Given the description of an element on the screen output the (x, y) to click on. 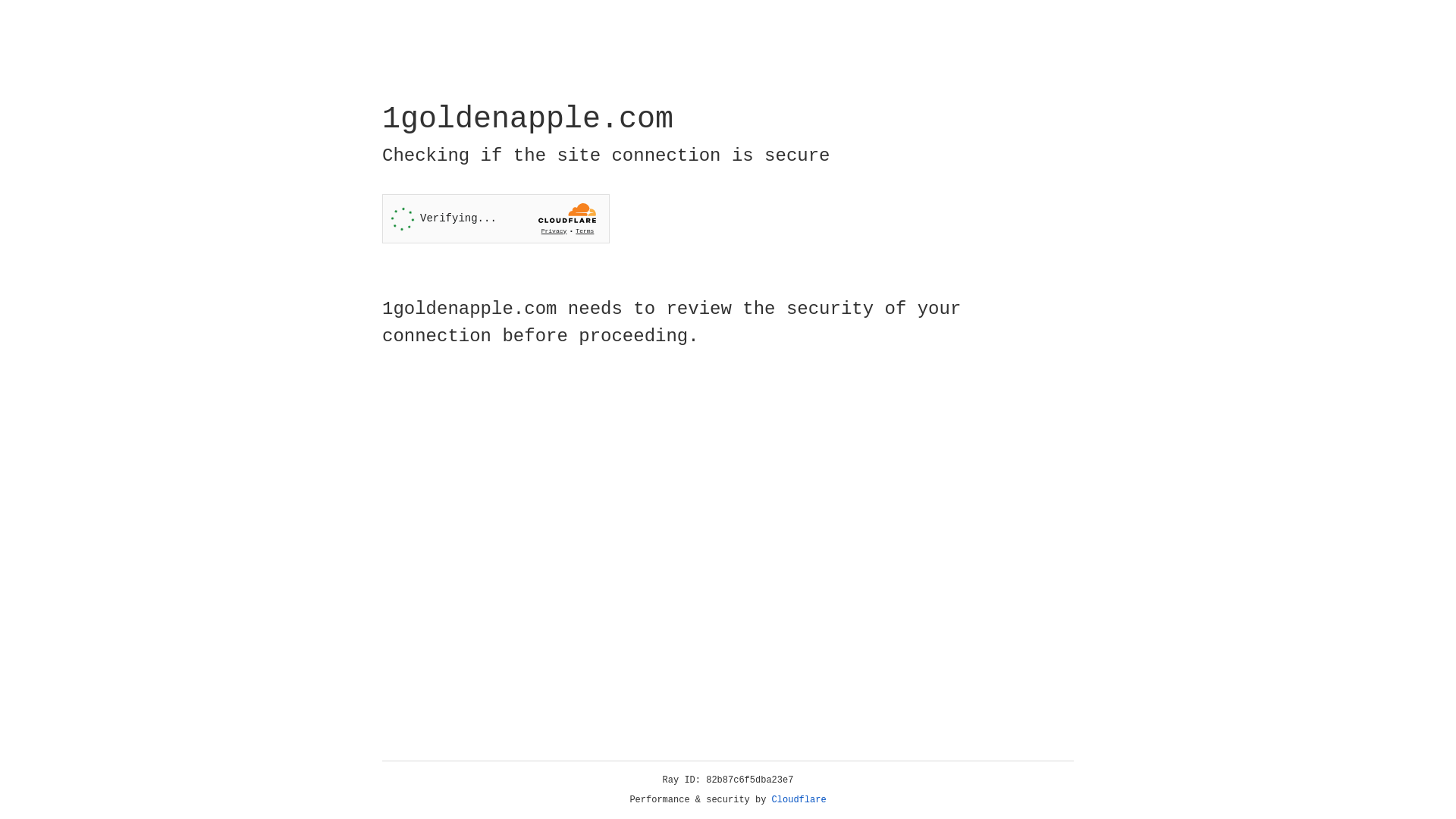
Widget containing a Cloudflare security challenge Element type: hover (495, 218)
Cloudflare Element type: text (798, 799)
